Given the description of an element on the screen output the (x, y) to click on. 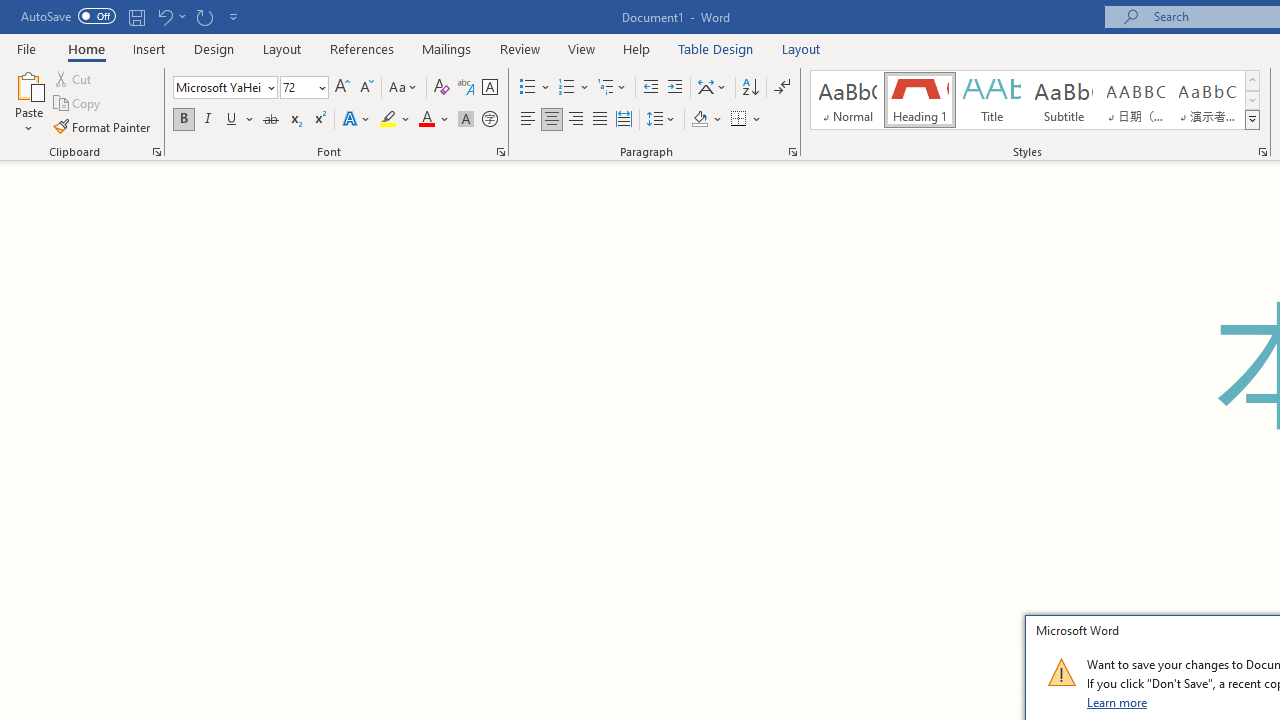
Learn more (1118, 702)
Undo Grow Font (164, 15)
